Given the description of an element on the screen output the (x, y) to click on. 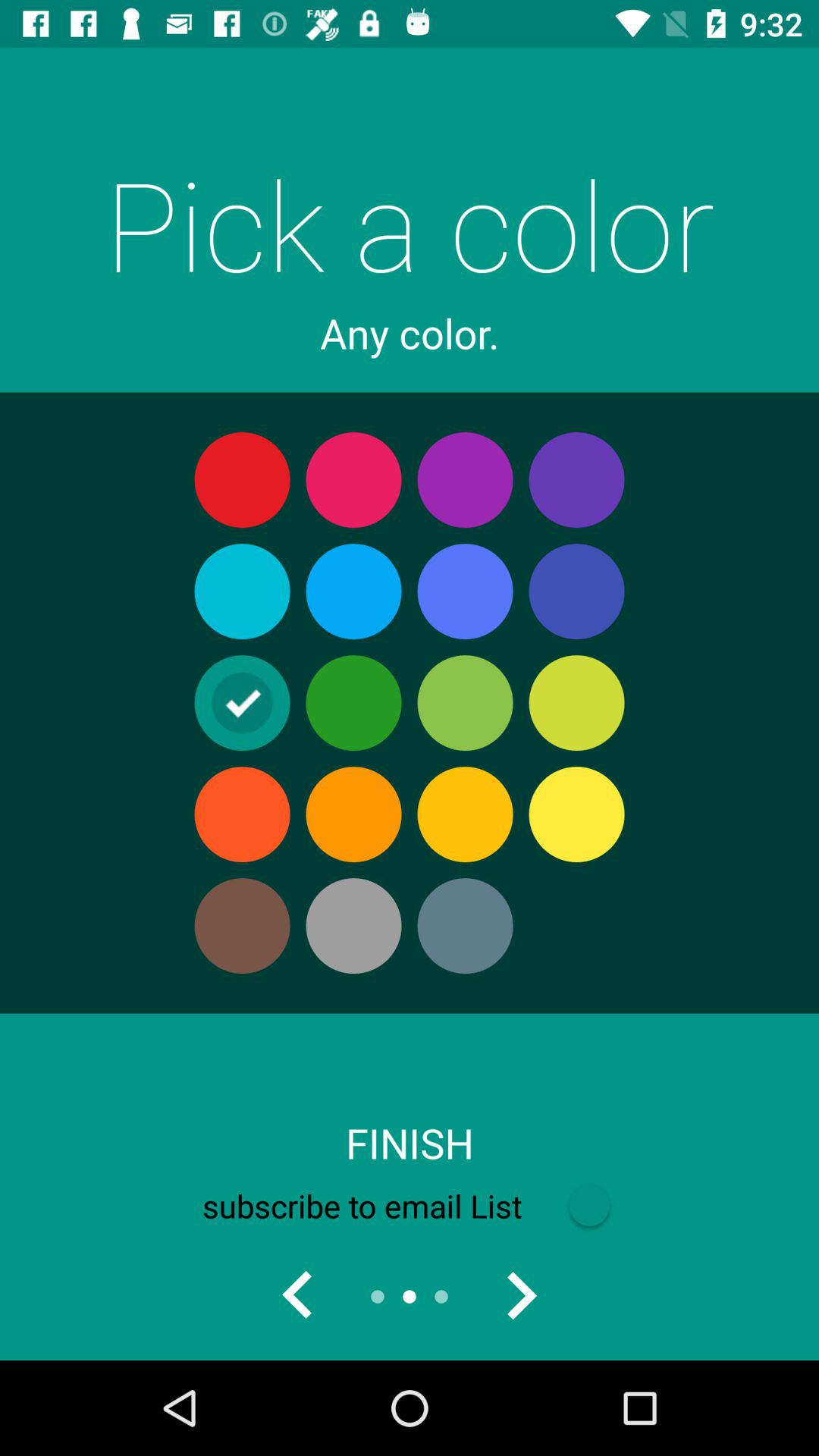
swipe until the subscribe to email item (409, 1206)
